Given the description of an element on the screen output the (x, y) to click on. 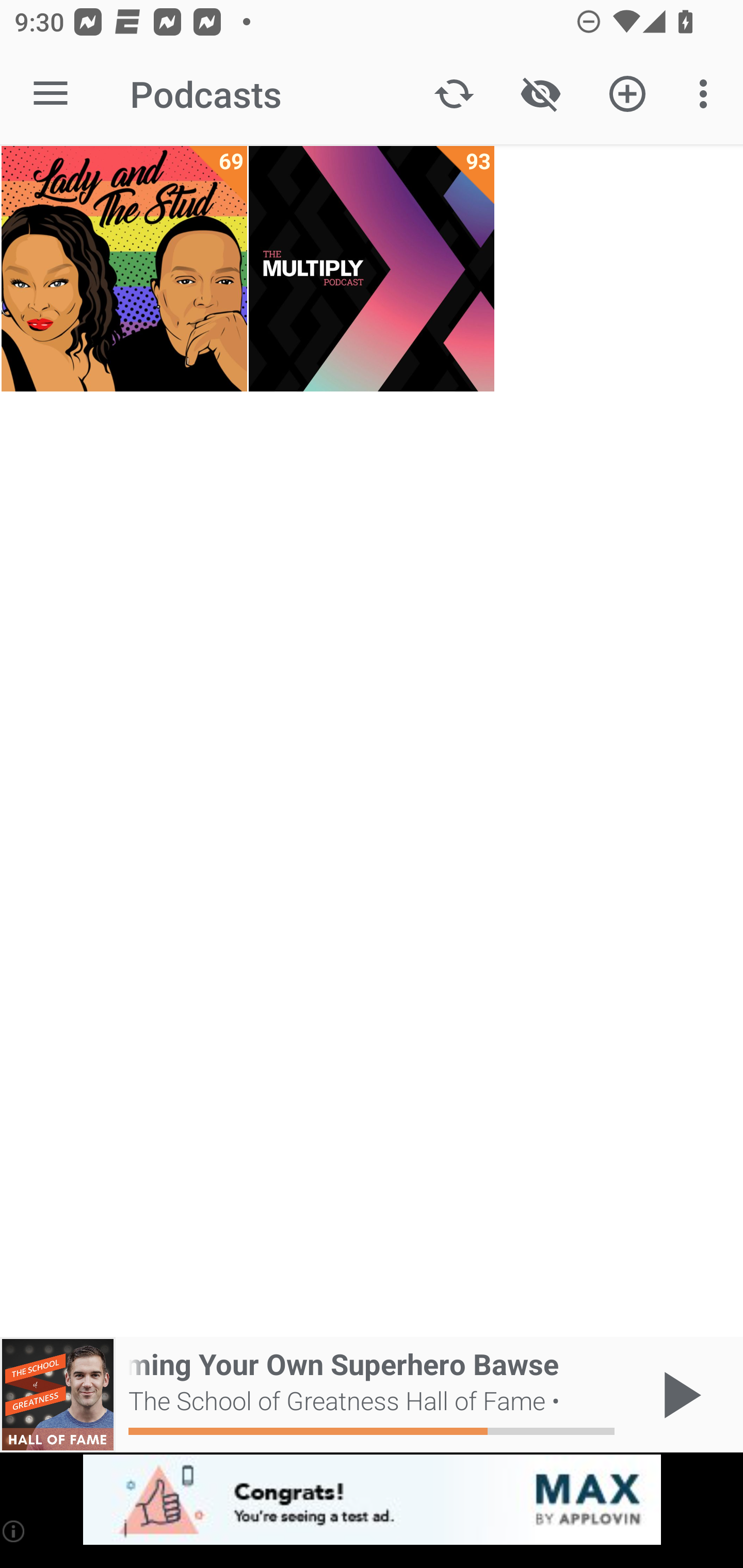
Open navigation sidebar (50, 93)
Update (453, 93)
Show / Hide played content (540, 93)
Add new Podcast (626, 93)
More options (706, 93)
Lady and The Stud 69 (124, 268)
The Multiply Podcast 93 (371, 268)
Play / Pause (677, 1394)
app-monetization (371, 1500)
(i) (14, 1531)
